Given the description of an element on the screen output the (x, y) to click on. 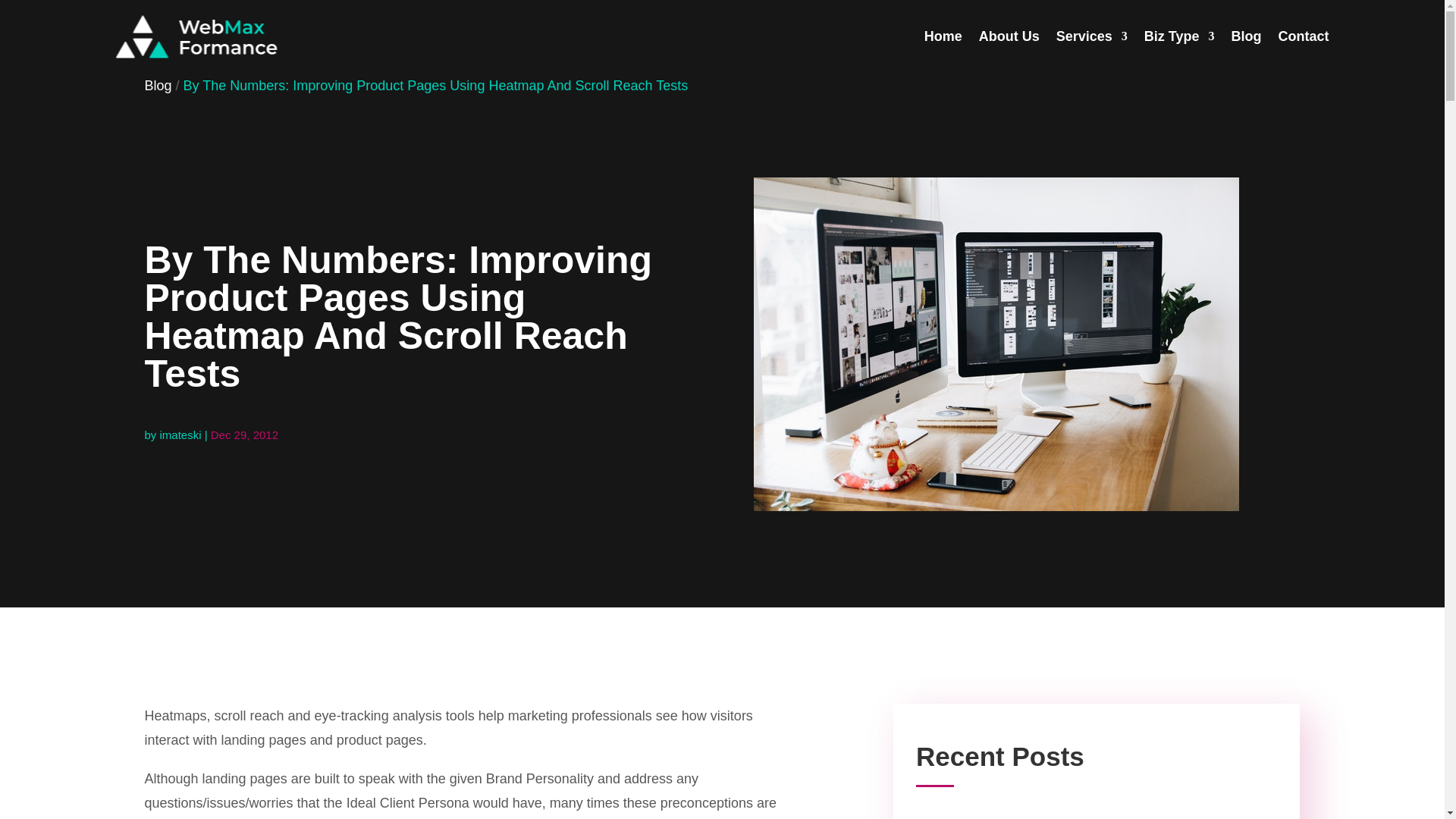
Biz Type (1179, 36)
Blog (157, 85)
Posts by imateski (181, 434)
Services (1091, 36)
imateski (181, 434)
About Us (1008, 36)
